Given the description of an element on the screen output the (x, y) to click on. 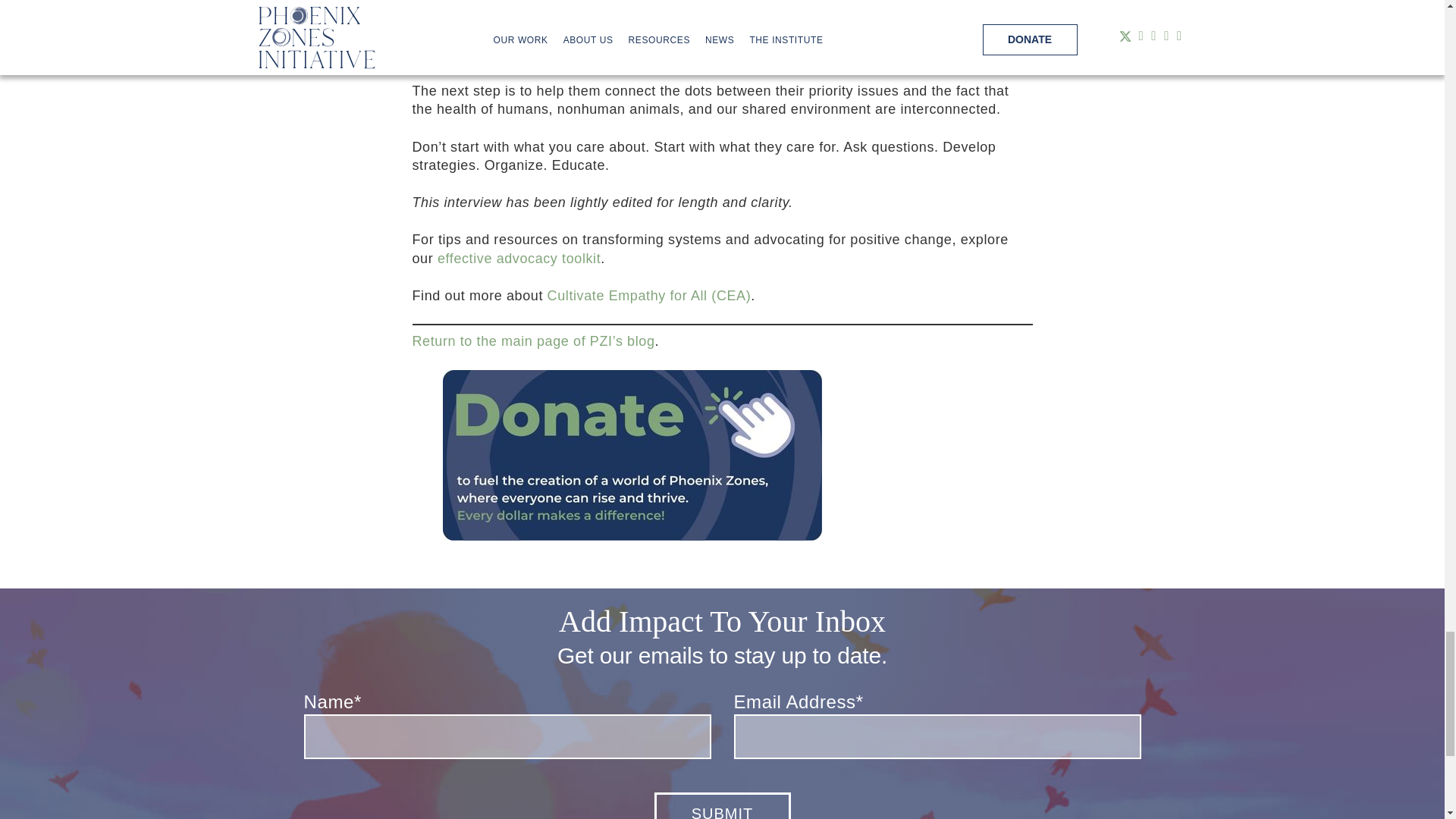
Submit (721, 805)
Submit (721, 805)
effective advocacy toolkit (518, 258)
